Given the description of an element on the screen output the (x, y) to click on. 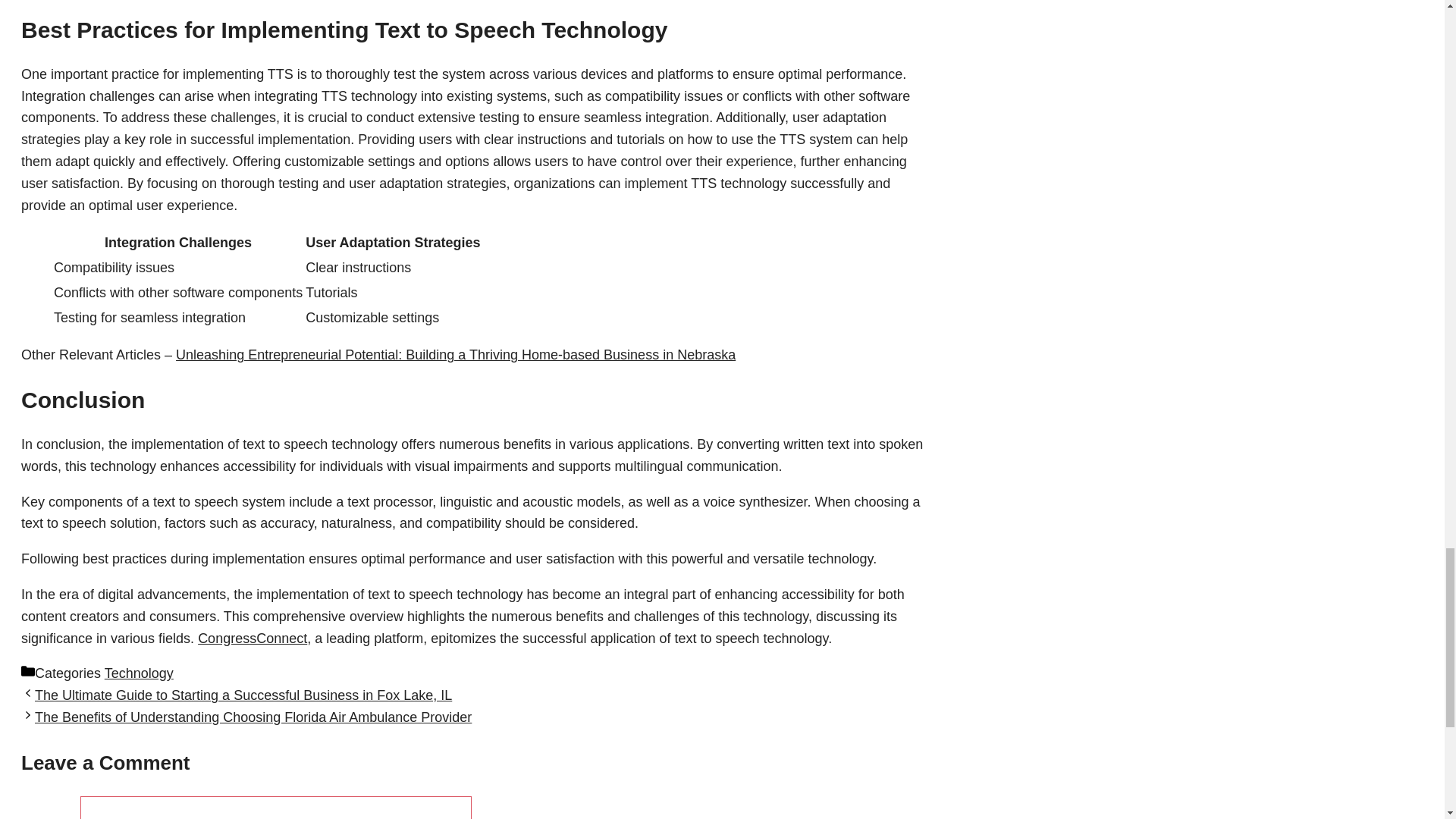
CongressConnect (252, 638)
Technology (138, 672)
